Given the description of an element on the screen output the (x, y) to click on. 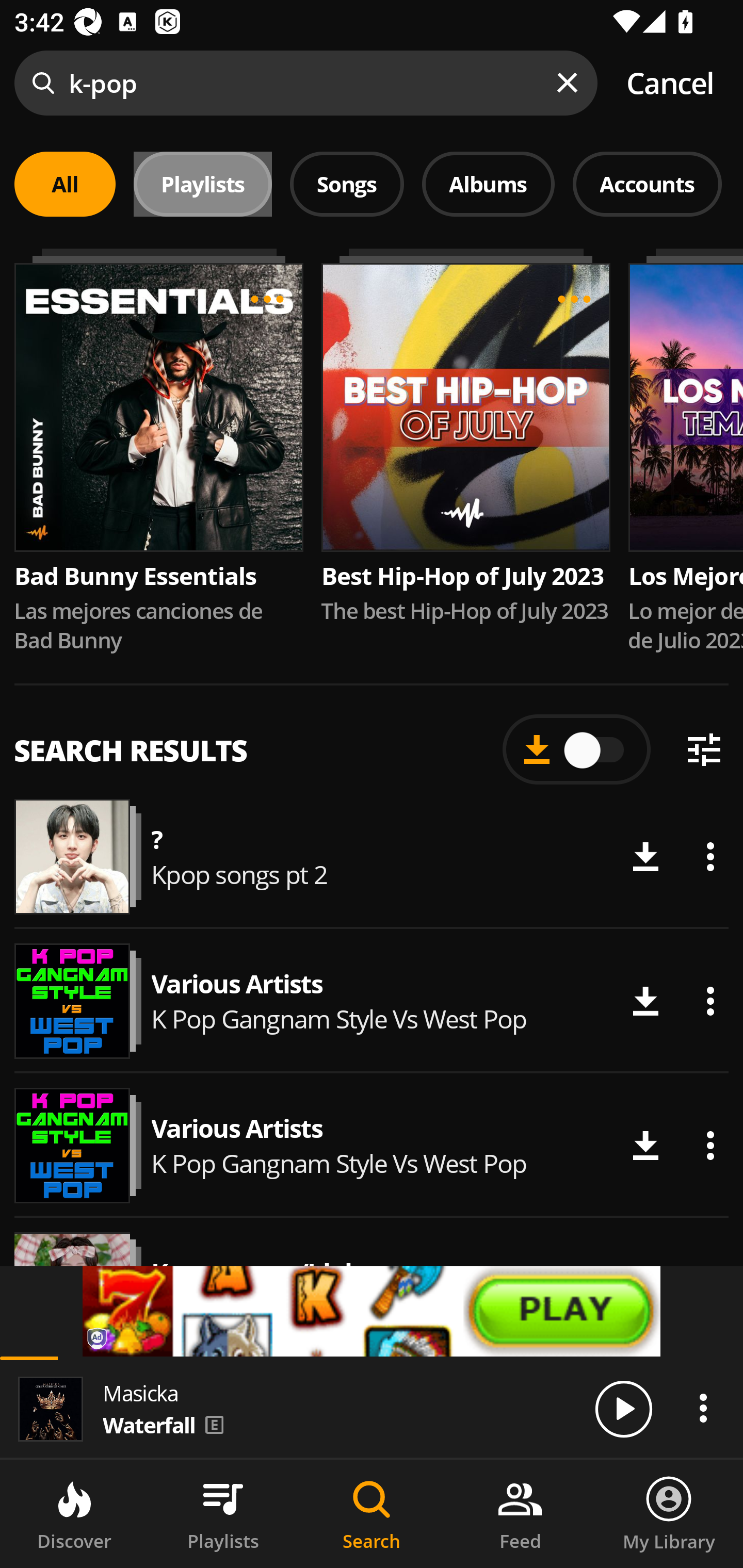
k-pop Cancel (371, 82)
Cancel (670, 82)
All (64, 184)
Playlists (202, 184)
Songs (346, 184)
Albums (488, 184)
Accounts (647, 184)
Song artwork ? Kpop songs pt 2 Download Actions (371, 856)
Download (644, 856)
Actions (710, 856)
Download (644, 1001)
Actions (710, 1001)
Download (644, 1145)
Actions (710, 1145)
fsc (371, 1311)
Liftoff Privacy (97, 1339)
Actions (703, 1407)
Play/Pause (623, 1408)
Discover (74, 1513)
Playlists (222, 1513)
Search (371, 1513)
Feed (519, 1513)
My Library (668, 1513)
